Given the description of an element on the screen output the (x, y) to click on. 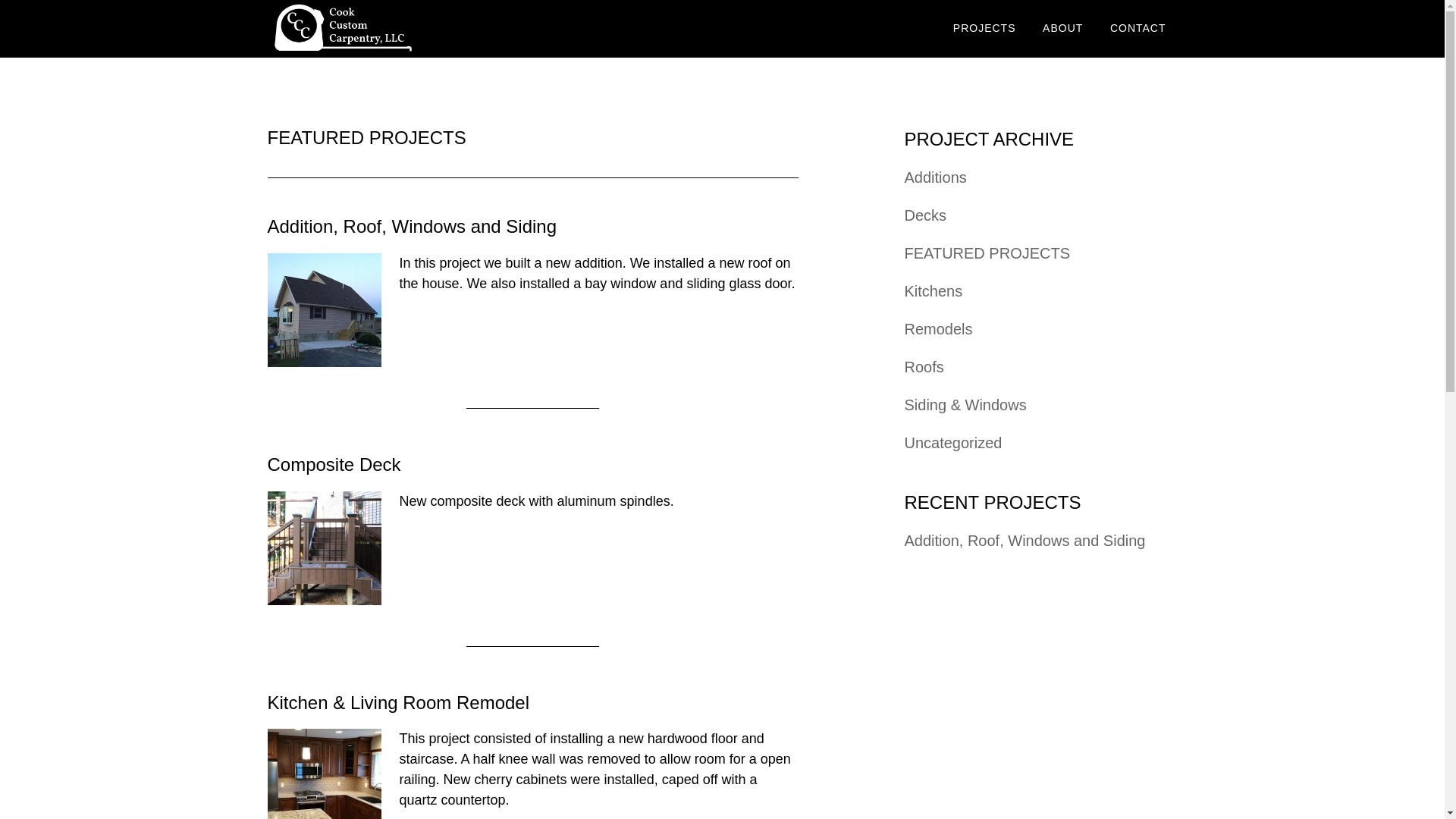
CONTACT (1138, 28)
ABOUT (1062, 28)
COOK CUSTOM CARPENTRY, LLC (403, 28)
Composite Deck (333, 464)
Uncategorized (952, 442)
PROJECTS (984, 28)
Remodels (938, 329)
Decks (925, 215)
Additions (935, 176)
Addition, Roof, Windows and Siding (1024, 540)
Addition, Roof, Windows and Siding (411, 226)
FEATURED PROJECTS (987, 252)
Roofs (923, 366)
Kitchens (933, 290)
